Given the description of an element on the screen output the (x, y) to click on. 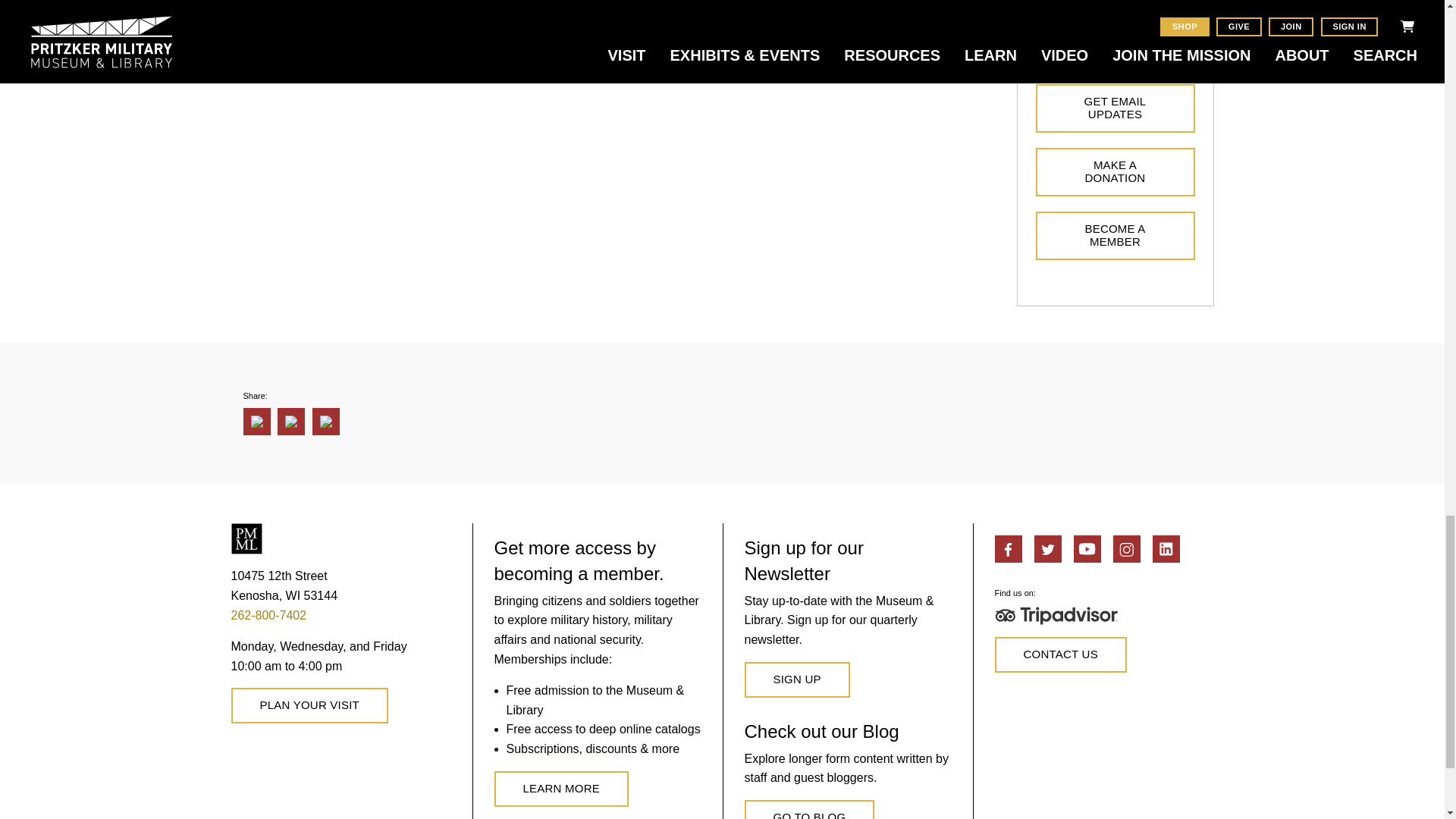
Youtube (1087, 548)
Instagram (1126, 548)
Twitter (1047, 548)
Facebook (1008, 548)
Share to Facebook (256, 420)
LinkIn (1166, 548)
Share to E-mail (326, 420)
Share to Linkedin (291, 420)
